Given the description of an element on the screen output the (x, y) to click on. 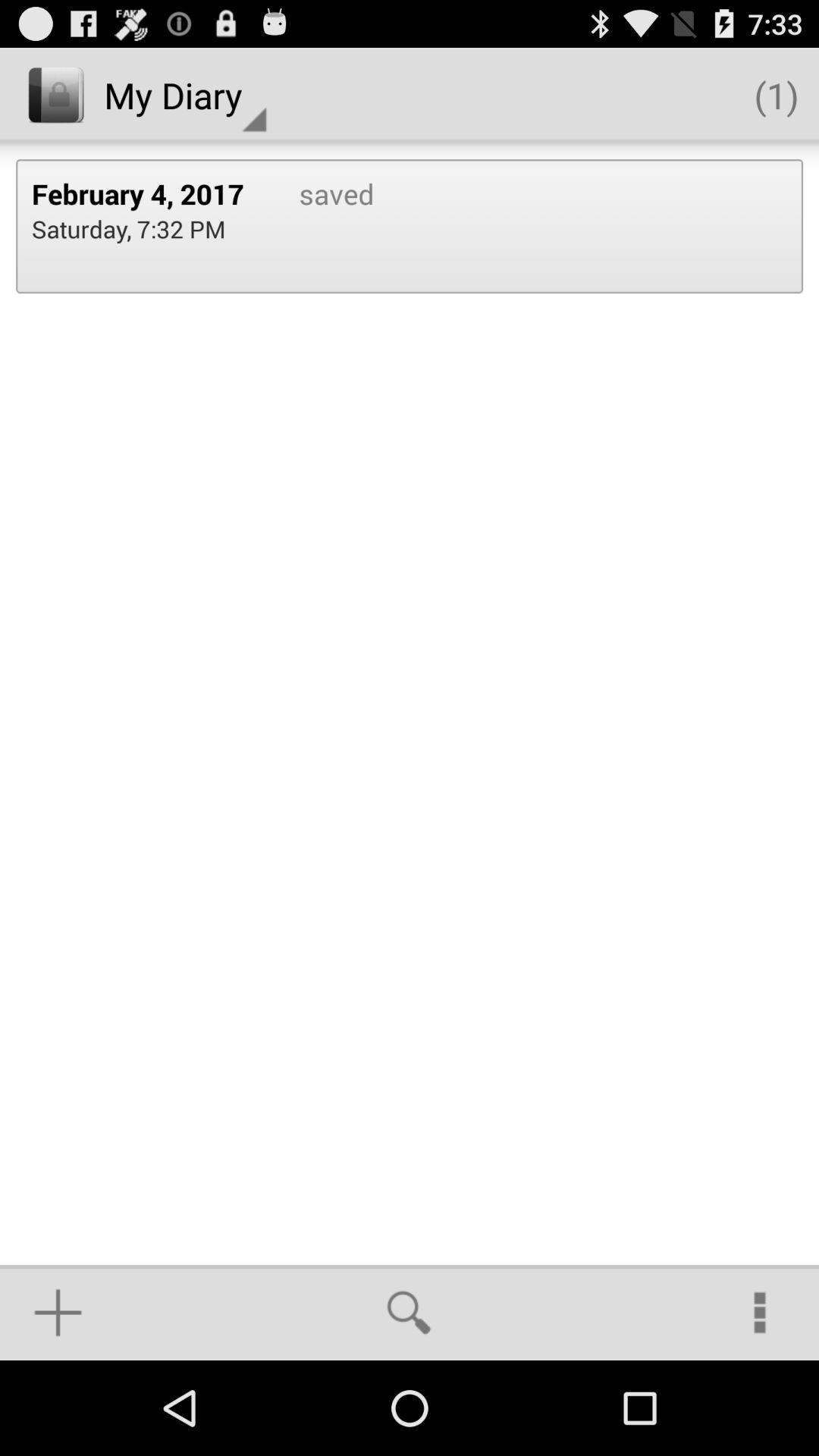
jump until the saved icon (320, 226)
